Given the description of an element on the screen output the (x, y) to click on. 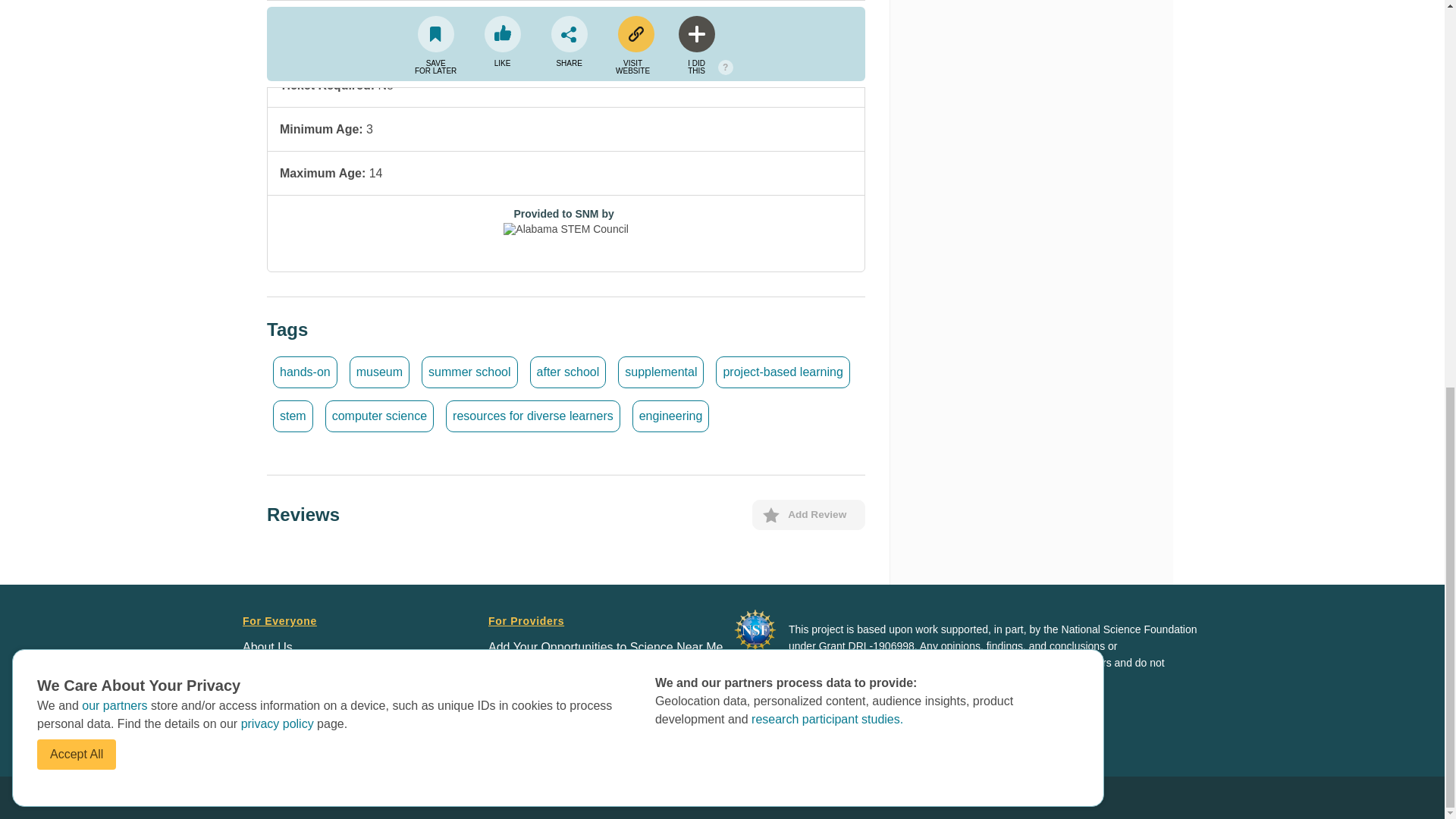
Alabama STEM Council (565, 234)
Accept All (76, 20)
after school (568, 372)
supplemental (660, 372)
hands-on (305, 372)
Add Review (808, 514)
summer school (469, 372)
museum (379, 372)
resources for diverse learners (532, 416)
stem (293, 416)
